Given the description of an element on the screen output the (x, y) to click on. 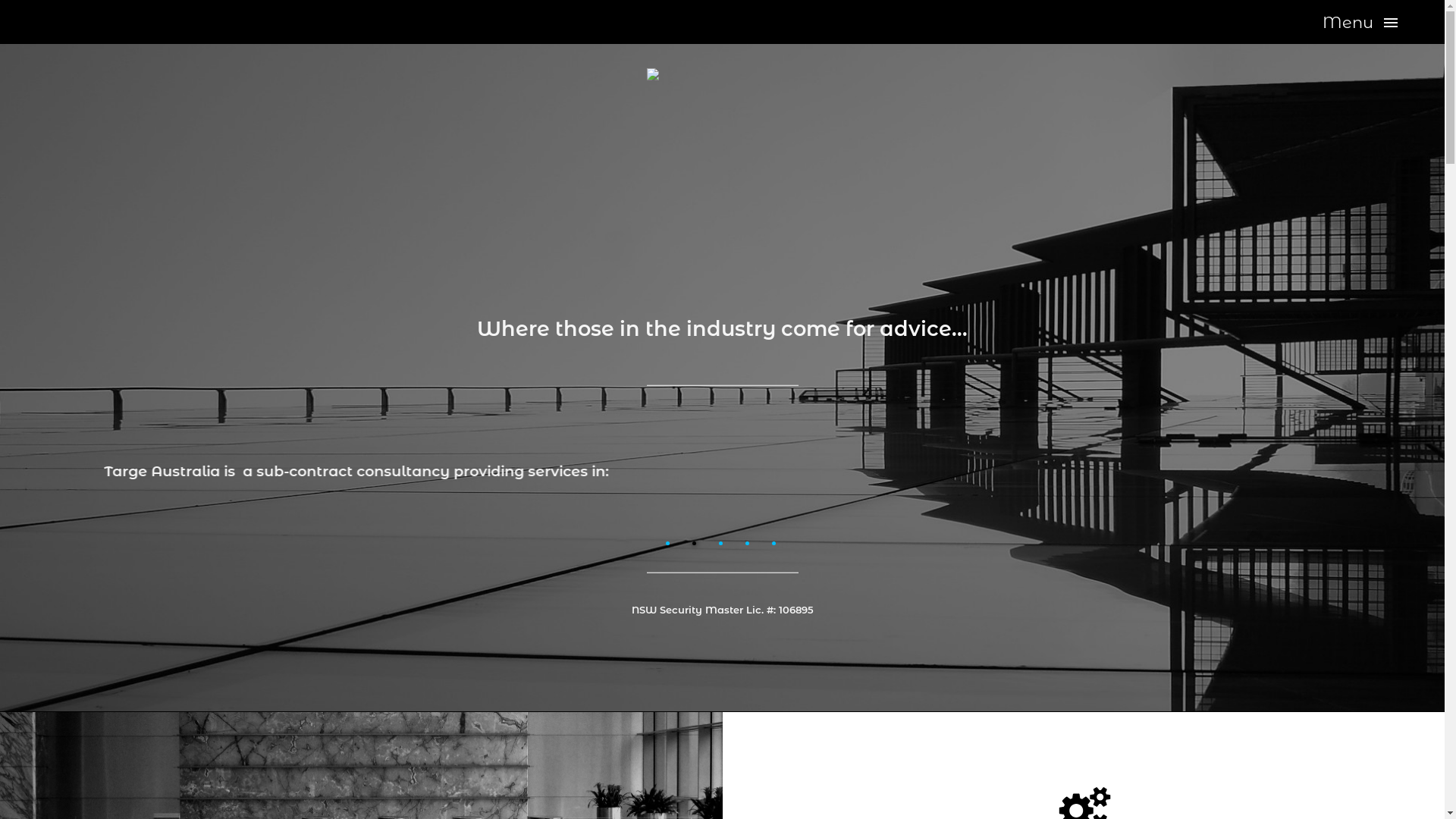
Menu Element type: text (1360, 22)
Targe Logo Element type: hover (721, 143)
